Given the description of an element on the screen output the (x, y) to click on. 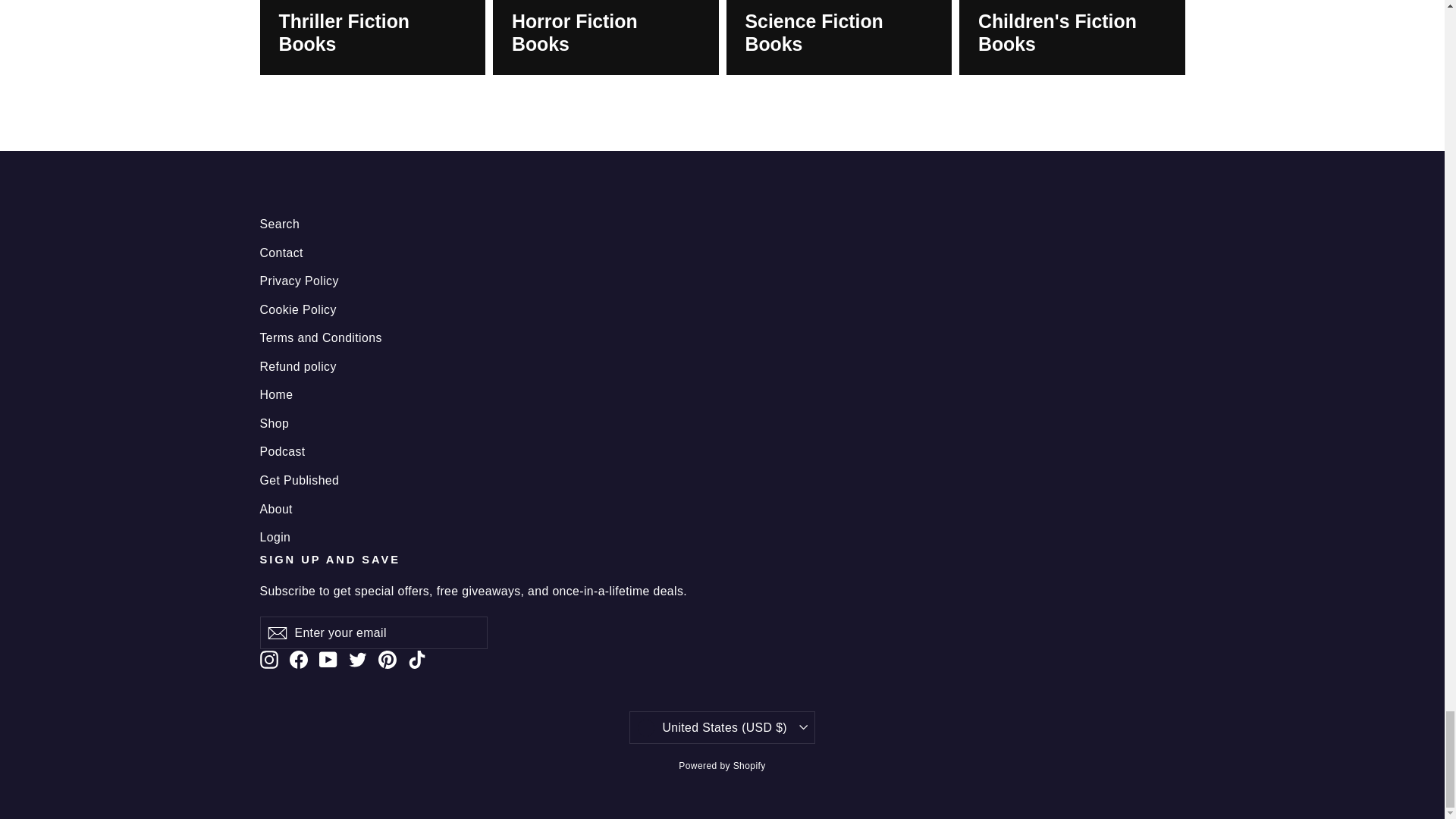
Hangar1publishing on Facebook (298, 659)
twitter (357, 659)
icon-email (276, 633)
instagram (268, 659)
Hangar1publishing on TikTok (416, 659)
Hangar1publishing on Twitter (357, 659)
Hangar1publishing on YouTube (327, 659)
